Given the description of an element on the screen output the (x, y) to click on. 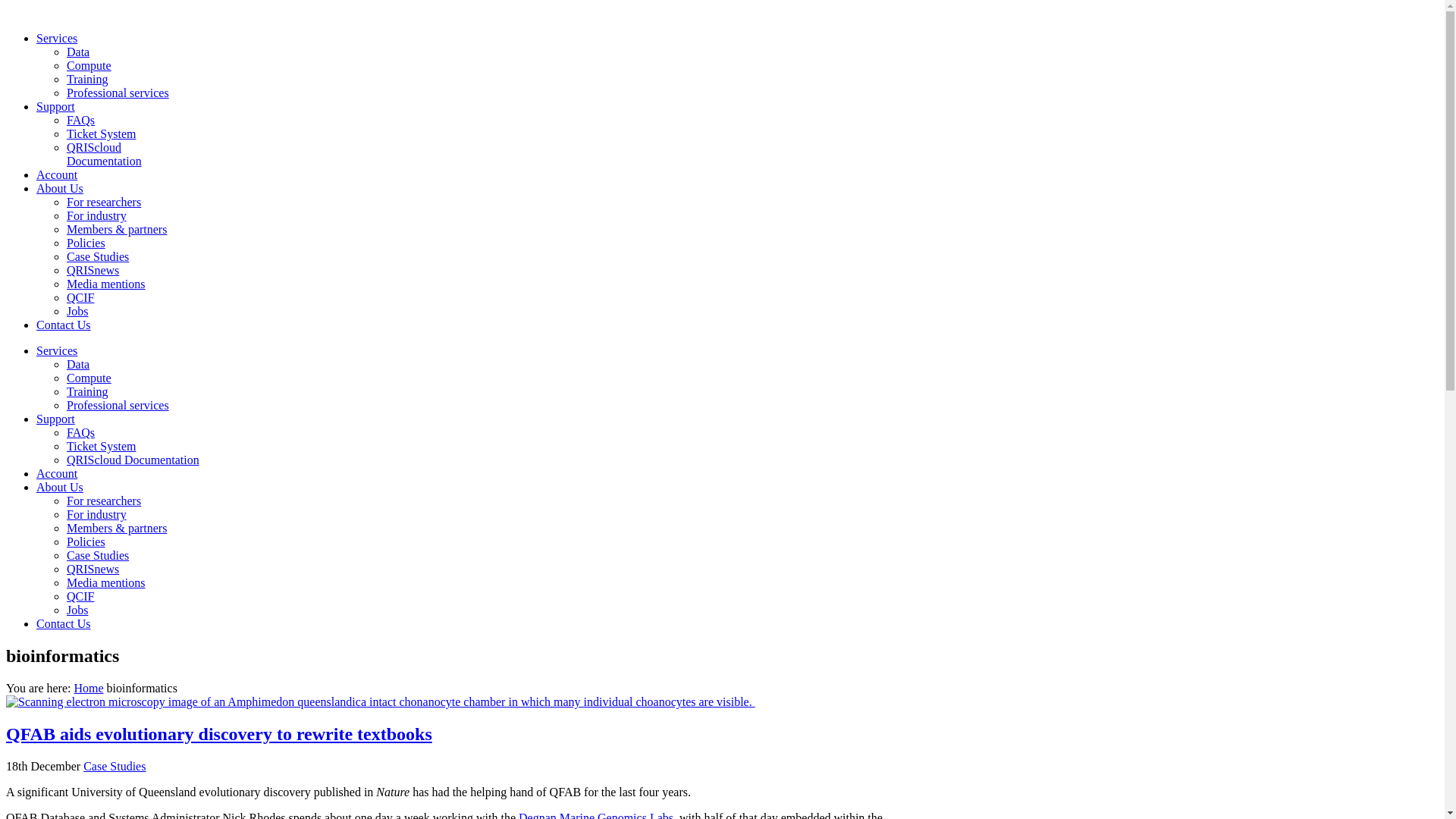
QRISnews Element type: text (92, 269)
FAQs Element type: text (80, 432)
QRIScloud Documentation Element type: text (132, 459)
FAQs Element type: text (80, 119)
QRIScloud Documentation Element type: text (103, 154)
Data Element type: text (77, 363)
Contact Us Element type: text (63, 324)
For industry Element type: text (96, 514)
QFAB aids evolutionary discovery to rewrite textbooks Element type: text (219, 733)
Jobs Element type: text (76, 310)
Members & partners Element type: text (116, 527)
Home Element type: text (88, 687)
Data Element type: text (77, 51)
Ticket System Element type: text (100, 133)
Policies Element type: text (85, 242)
For researchers Element type: text (103, 201)
For researchers Element type: text (103, 500)
QRISnews Element type: text (92, 568)
Case Studies Element type: text (114, 765)
Compute Element type: text (88, 65)
About Us Element type: text (59, 188)
Professional services Element type: text (117, 404)
QCIF Element type: text (80, 595)
Services Element type: text (56, 350)
Training Element type: text (87, 78)
Contact Us Element type: text (63, 623)
Ticket System Element type: text (100, 445)
QCIF Element type: text (80, 297)
Media mentions Element type: text (105, 283)
Members & partners Element type: text (116, 228)
Compute Element type: text (88, 377)
Support Element type: text (55, 106)
For industry Element type: text (96, 215)
Account Element type: text (56, 473)
Services Element type: text (56, 37)
Support Element type: text (55, 418)
Training Element type: text (87, 391)
Professional services Element type: text (117, 92)
Media mentions Element type: text (105, 582)
Jobs Element type: text (76, 609)
Case Studies Element type: text (97, 555)
Policies Element type: text (85, 541)
Case Studies Element type: text (97, 256)
About Us Element type: text (59, 486)
Account Element type: text (56, 174)
